Given the description of an element on the screen output the (x, y) to click on. 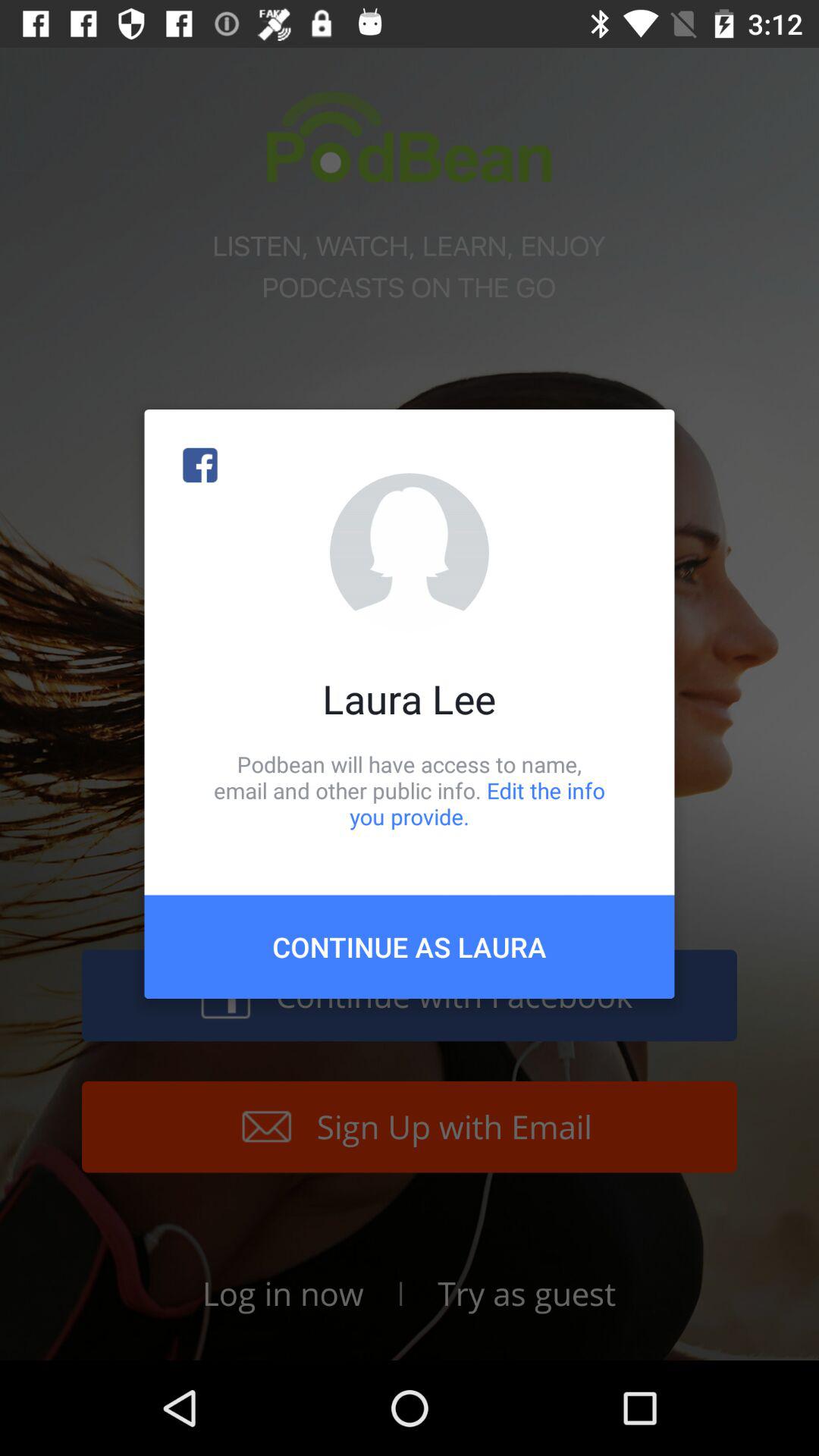
swipe until the continue as laura (409, 946)
